Given the description of an element on the screen output the (x, y) to click on. 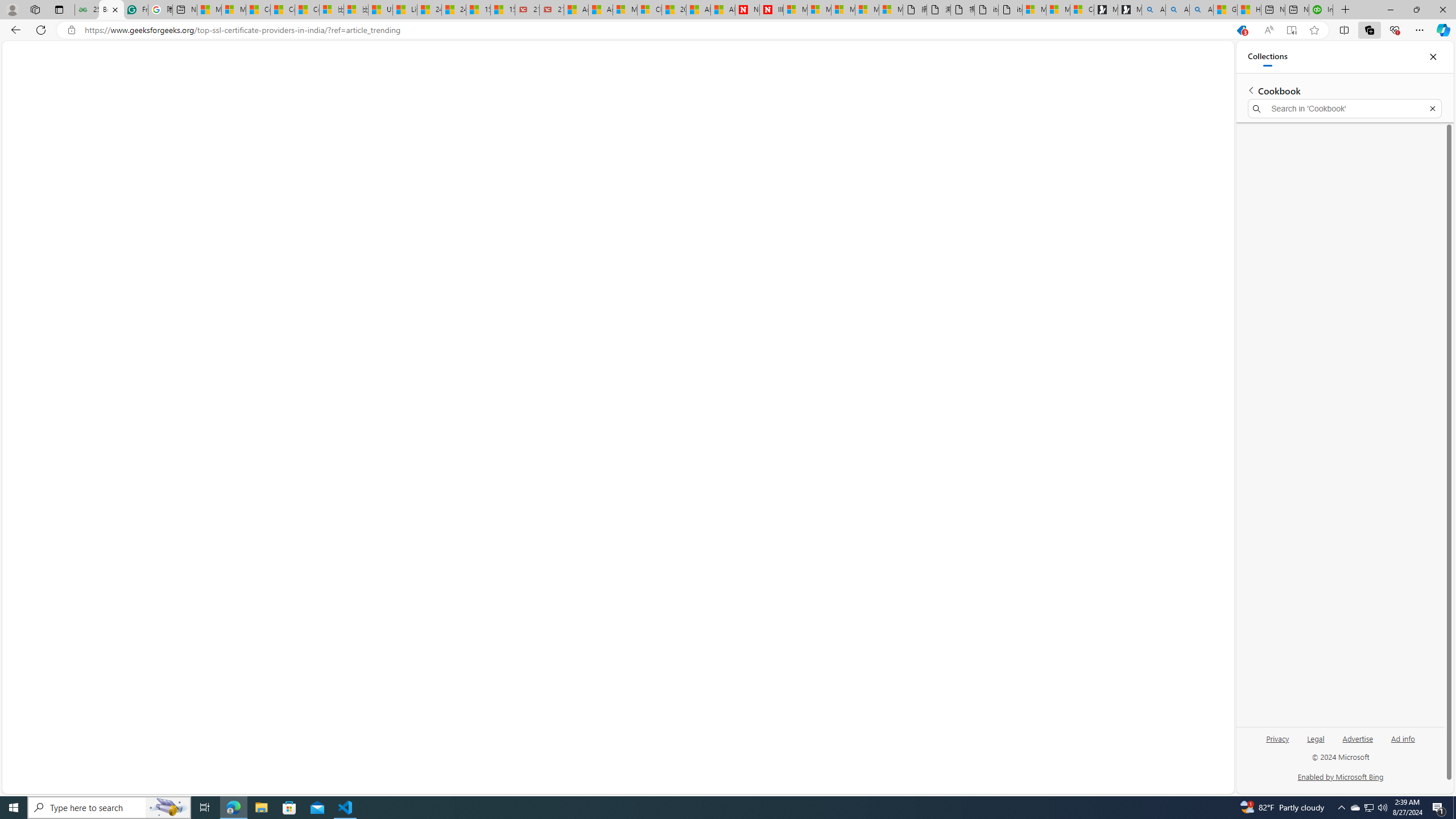
AI News (475, 80)
Tips & Tricks (159, 80)
Tech Blogs (321, 79)
AutomationID: brandFlyLogo (1186, 275)
Exit search (1432, 108)
AutomationID: vapourBg (1121, 422)
Free AI Writing Assistance for Students | Grammarly (135, 9)
Elon Musk's xAI releases Grok-2 AI assistant (1113, 173)
Trending (42, 80)
AutomationID: brandLogo (1121, 422)
256-bit encryption. (717, 591)
